Given the description of an element on the screen output the (x, y) to click on. 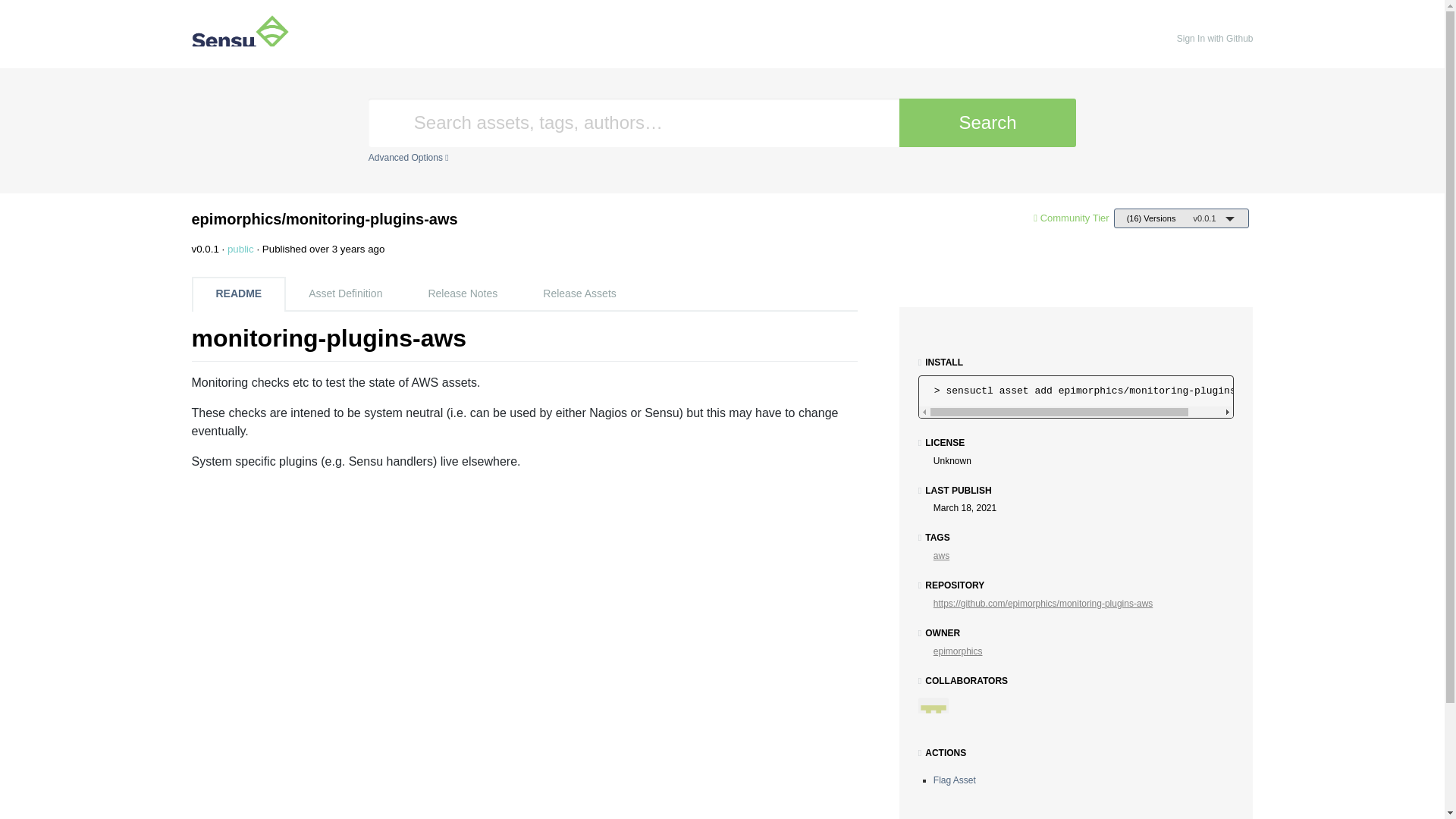
Community Tier (1075, 217)
andrew-pickin-epi (938, 716)
README (237, 294)
Search (987, 122)
aws (941, 555)
epimorphics (957, 651)
Flag Asset (954, 779)
Release Assets (579, 293)
Asset Definition (344, 293)
Release Notes (461, 293)
Sign In with Github (1214, 38)
